Given the description of an element on the screen output the (x, y) to click on. 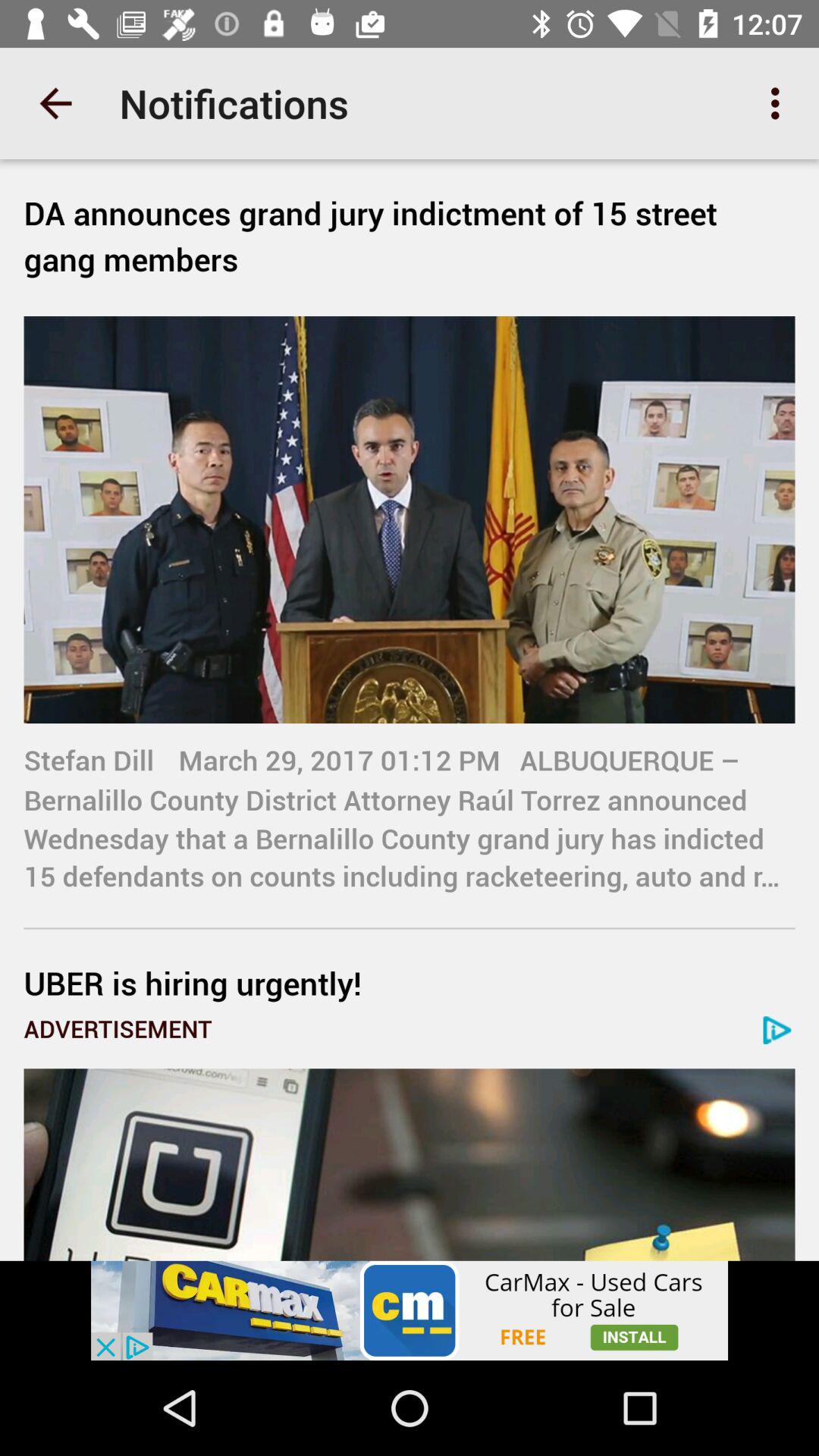
open the icon next to notifications (779, 103)
